Given the description of an element on the screen output the (x, y) to click on. 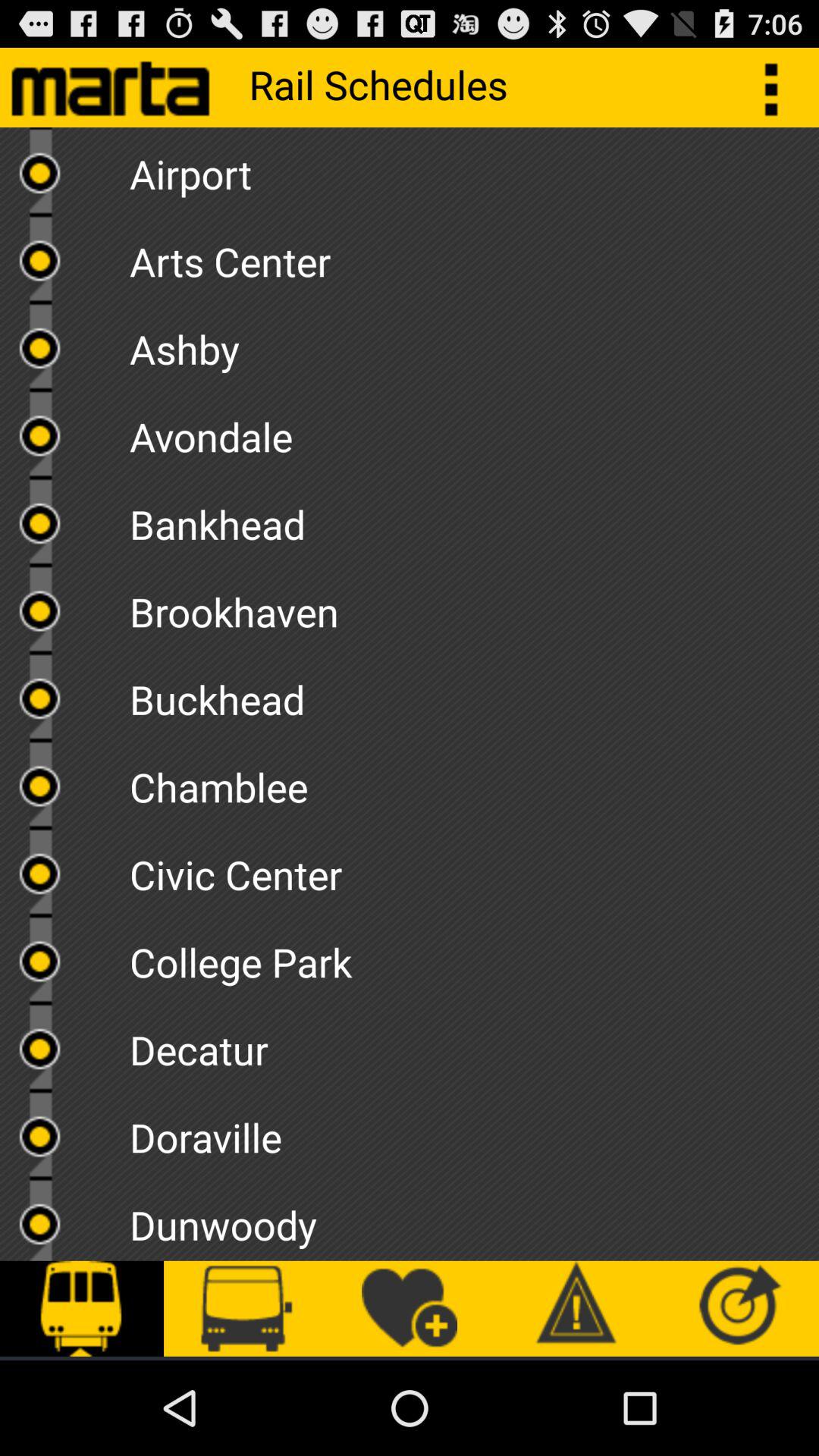
scroll until avondale app (474, 431)
